Given the description of an element on the screen output the (x, y) to click on. 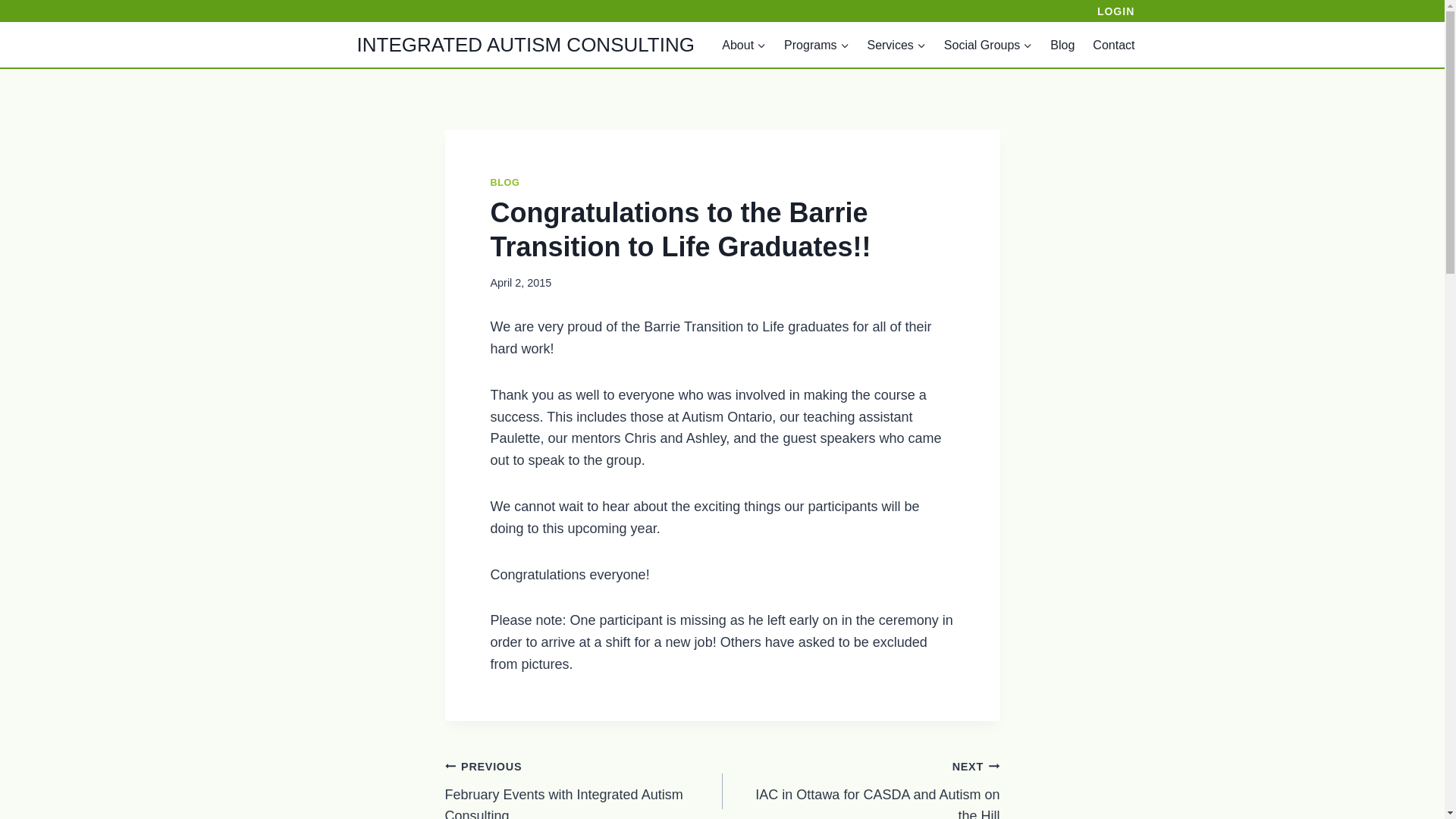
Social Groups (988, 44)
Contact (1112, 44)
LOGIN (1115, 11)
Blog (1062, 44)
About (743, 44)
BLOG (504, 182)
Programs (815, 44)
Services (895, 44)
INTEGRATED AUTISM CONSULTING (496, 44)
